Given the description of an element on the screen output the (x, y) to click on. 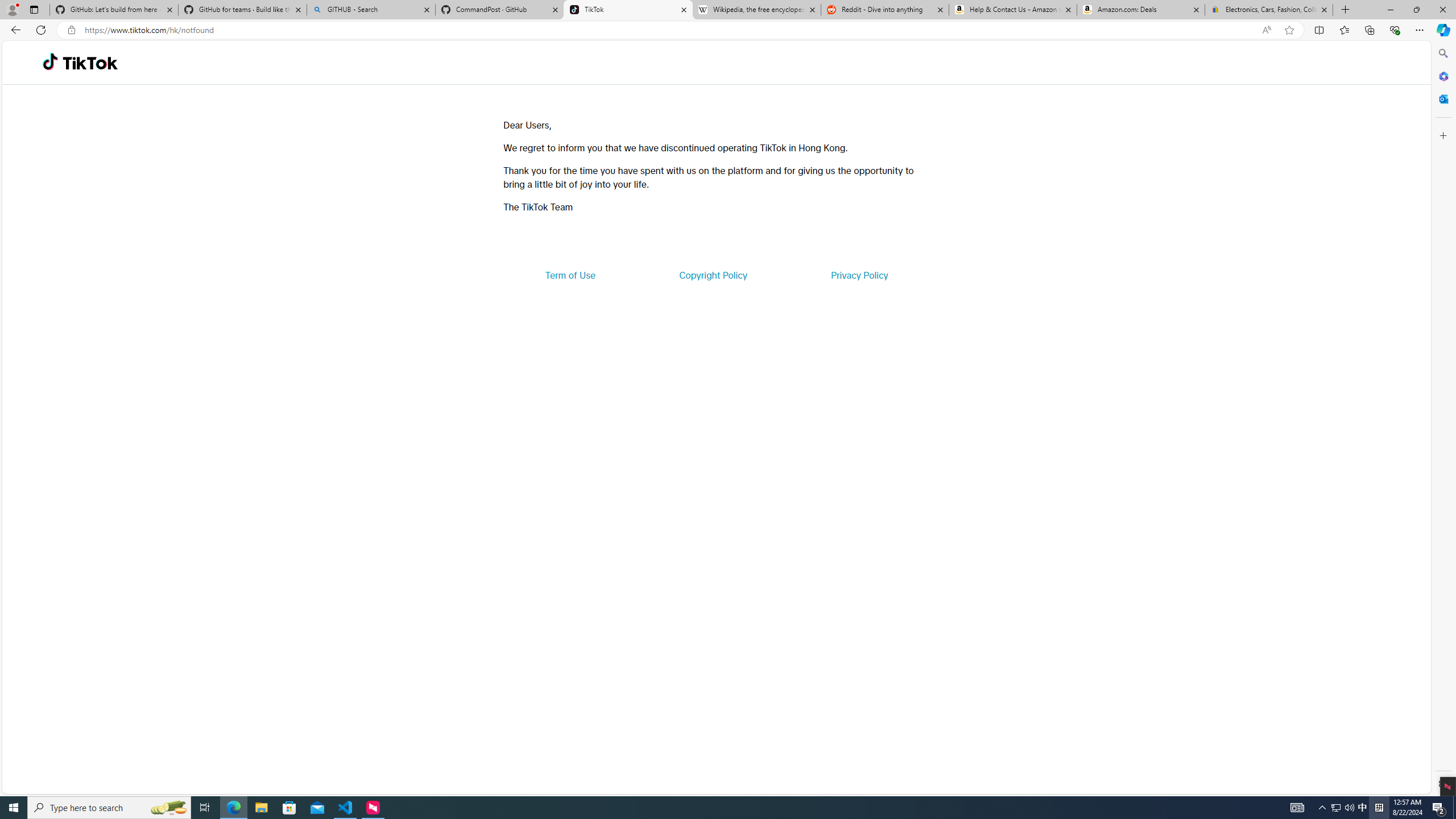
Term of Use (569, 274)
